Given the description of an element on the screen output the (x, y) to click on. 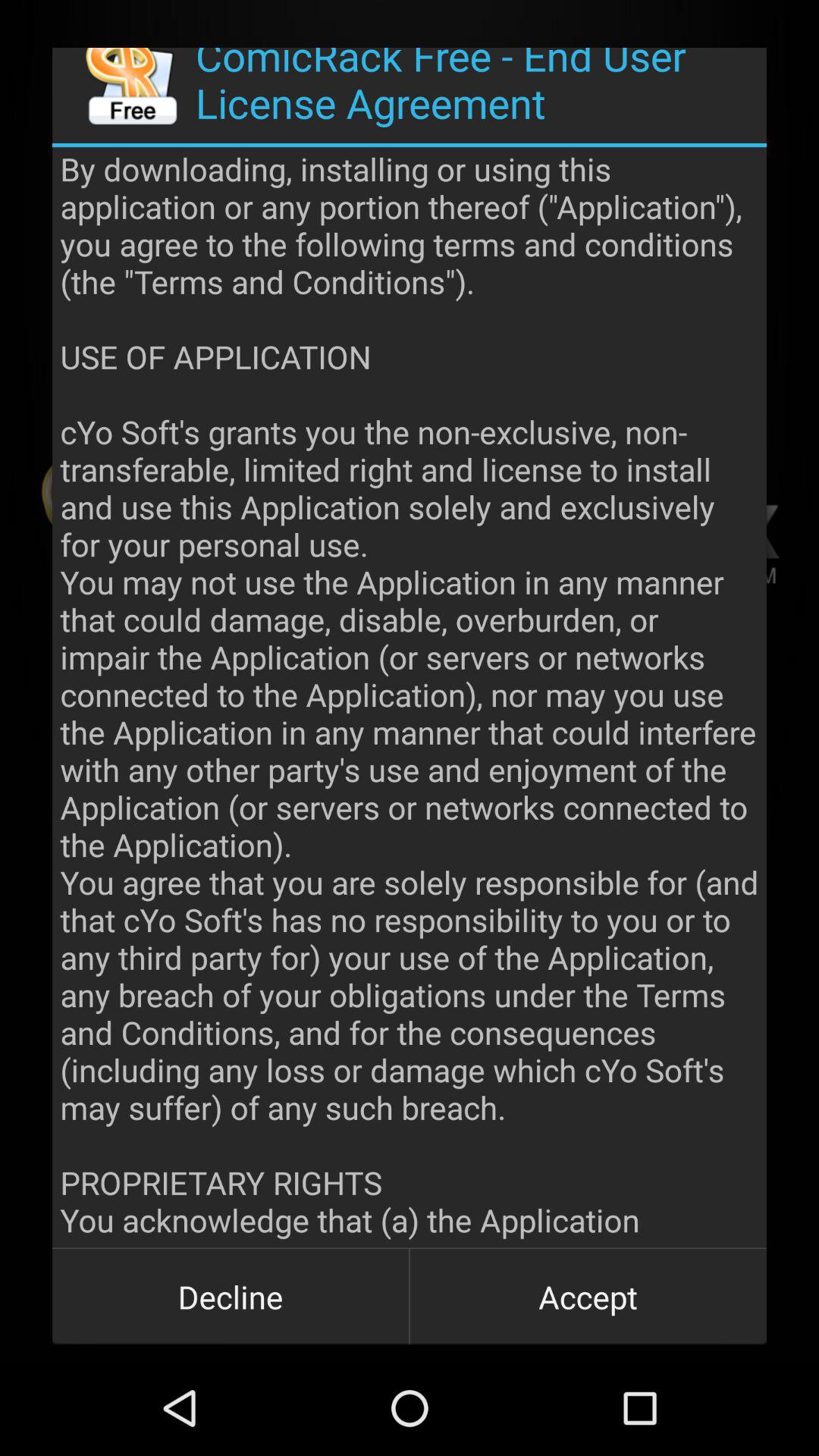
select app below the by downloading installing item (230, 1296)
